Given the description of an element on the screen output the (x, y) to click on. 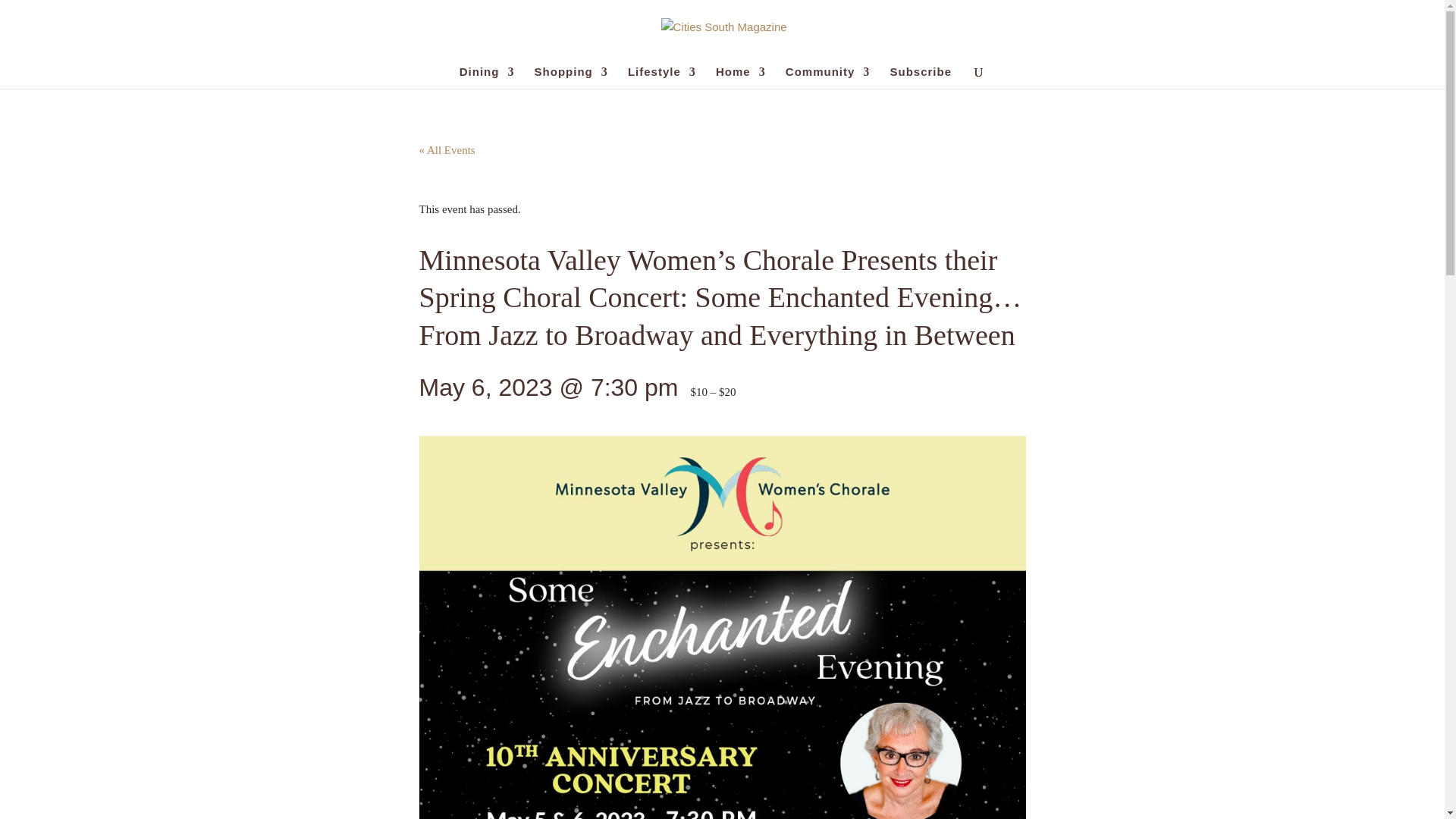
Lifestyle (661, 77)
Dining (487, 77)
Community (828, 77)
Home (740, 77)
Subscribe (920, 77)
Shopping (571, 77)
